Given the description of an element on the screen output the (x, y) to click on. 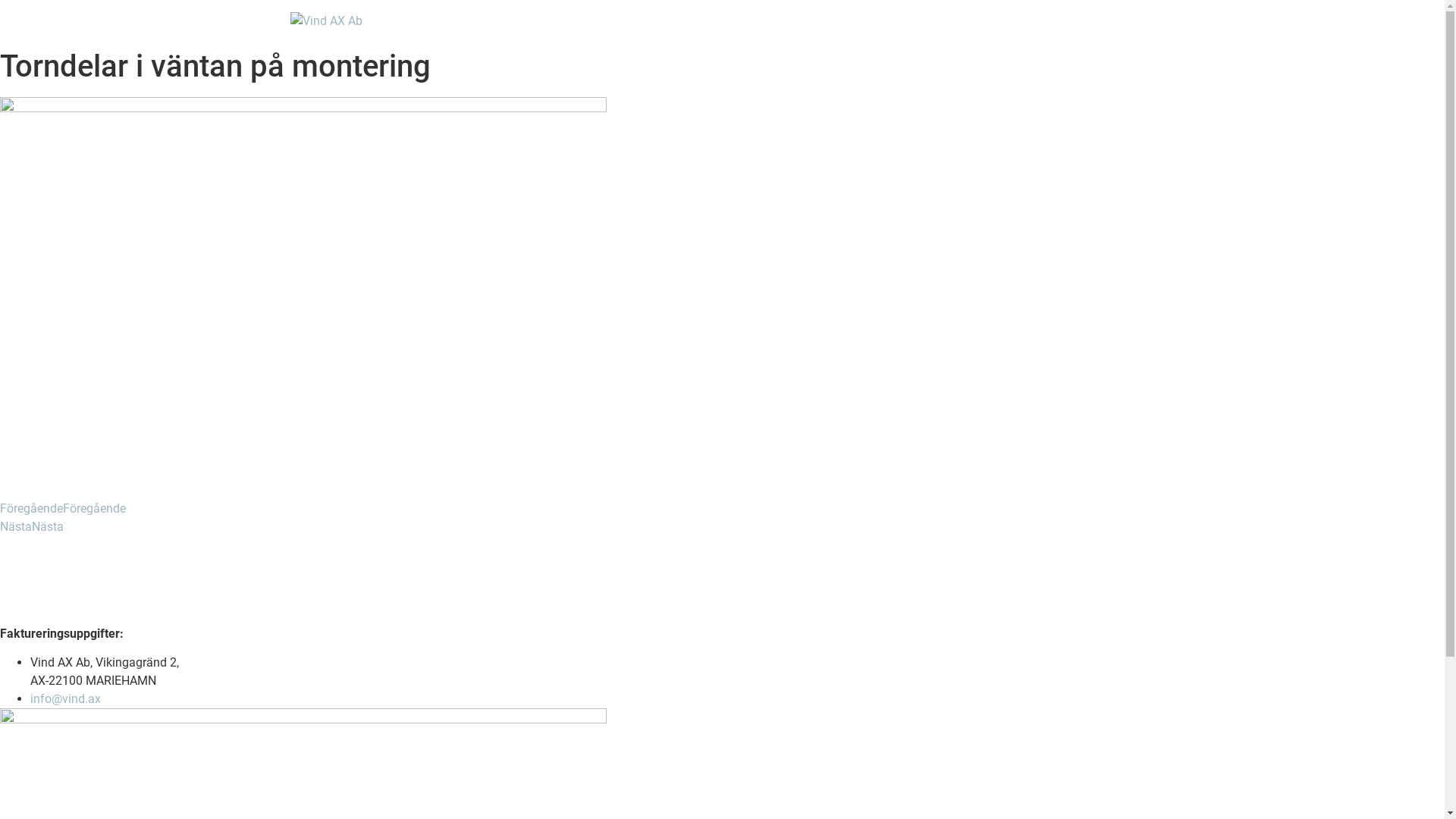
info@vind.ax Element type: text (65, 698)
